Given the description of an element on the screen output the (x, y) to click on. 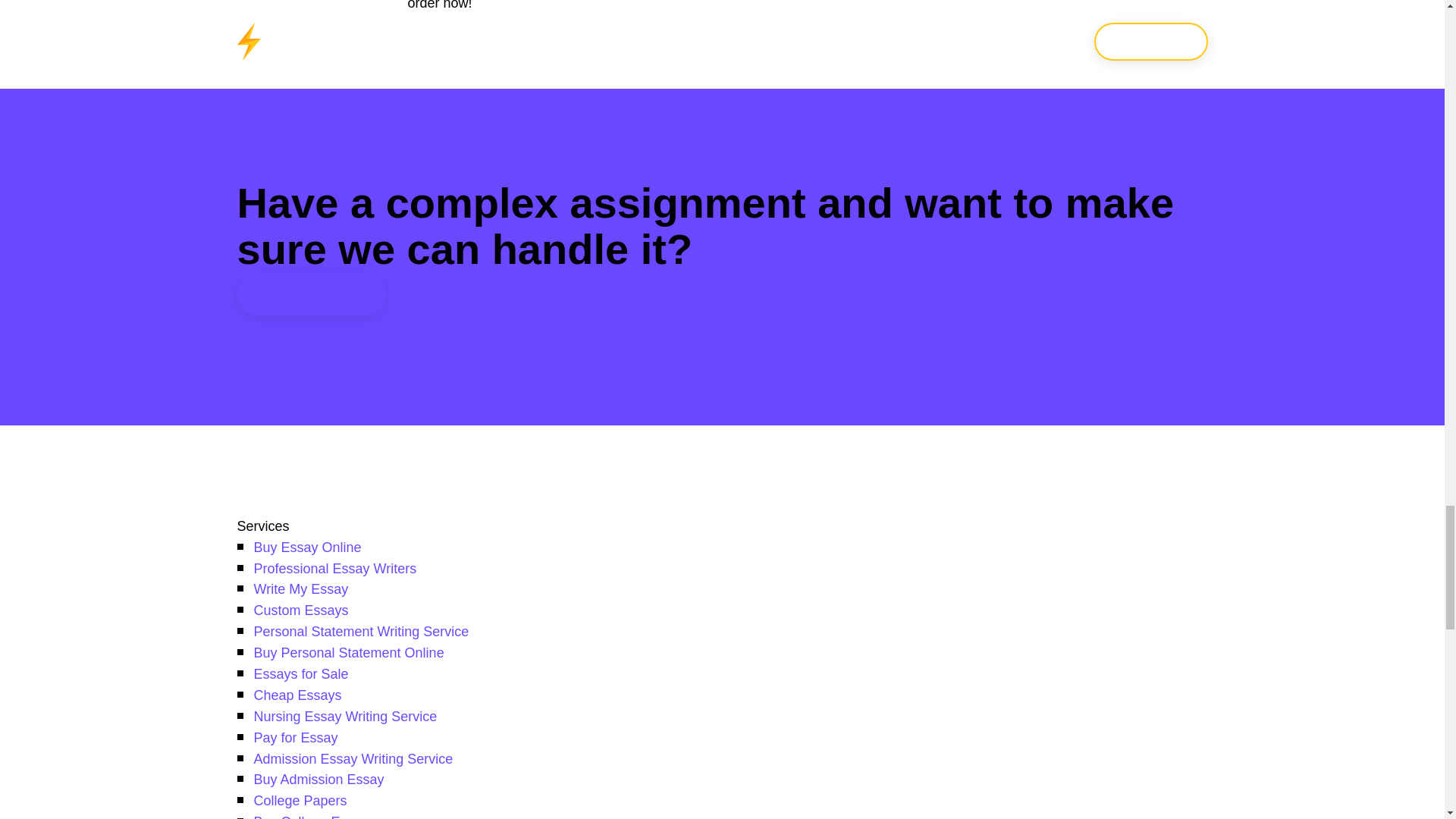
Essays for Sale (300, 673)
Buy Essay Online (307, 547)
College Papers (299, 800)
Professional Essay Writers (334, 568)
Write My Essay (300, 589)
Buy Personal Statement Online (348, 652)
Custom Essays (300, 610)
Personal Statement Writing Service (360, 631)
Buy College Essays (313, 816)
Nursing Essay Writing Service (344, 716)
